Given the description of an element on the screen output the (x, y) to click on. 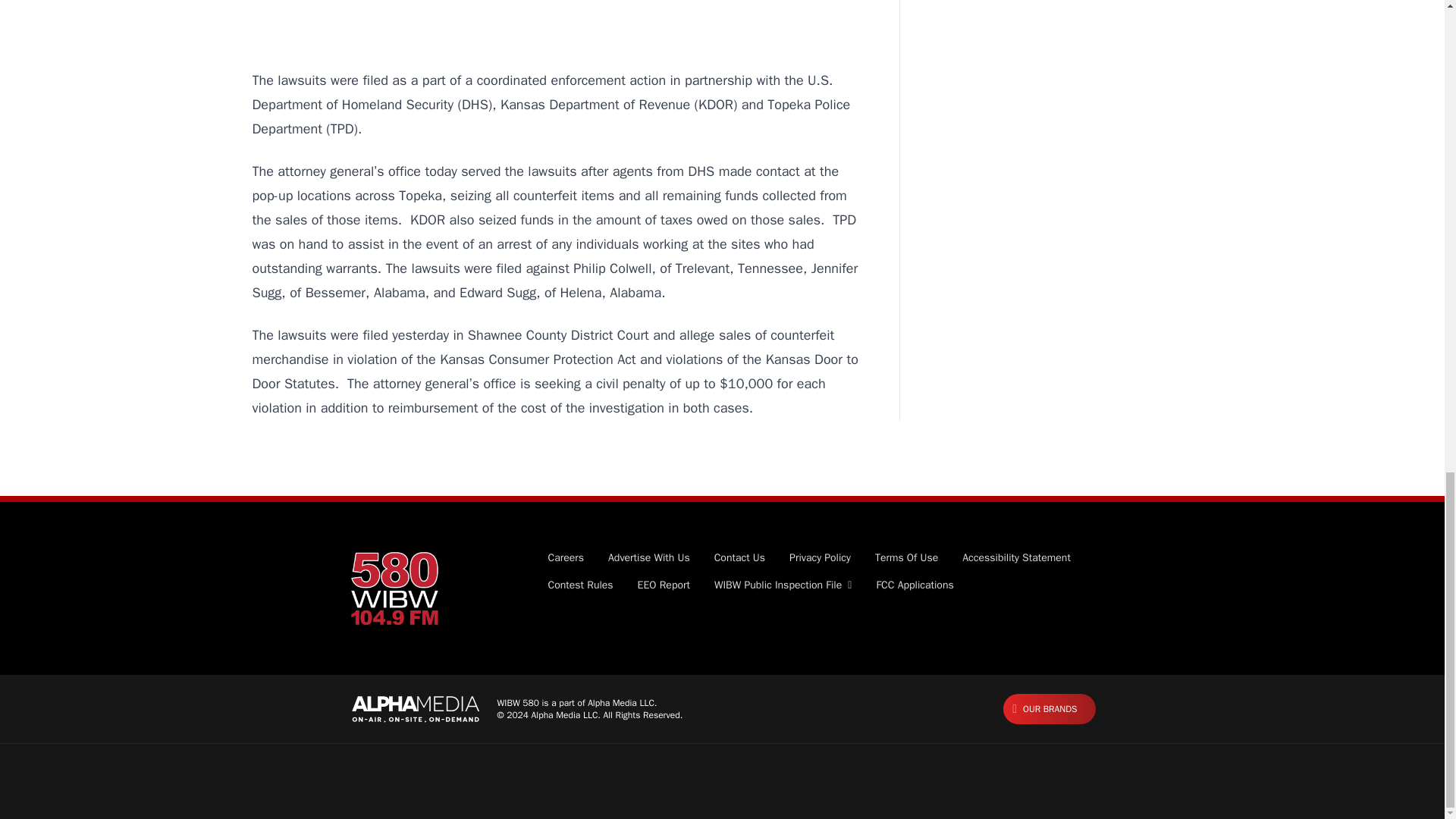
3rd party ad content (560, 18)
